Given the description of an element on the screen output the (x, y) to click on. 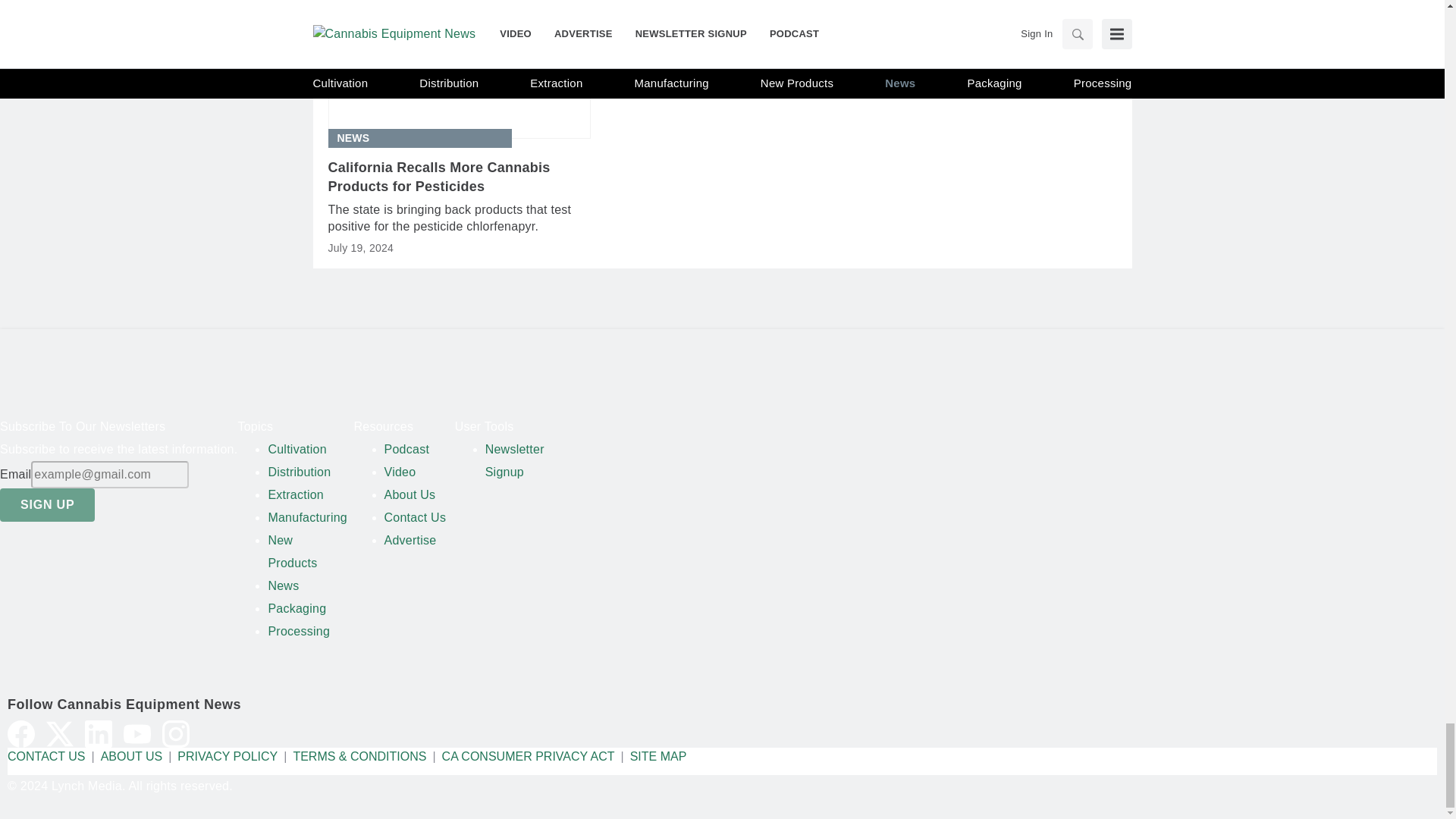
LinkedIn icon (98, 733)
YouTube icon (137, 733)
Instagram icon (175, 733)
Facebook icon (20, 733)
Twitter X icon (60, 733)
